Given the description of an element on the screen output the (x, y) to click on. 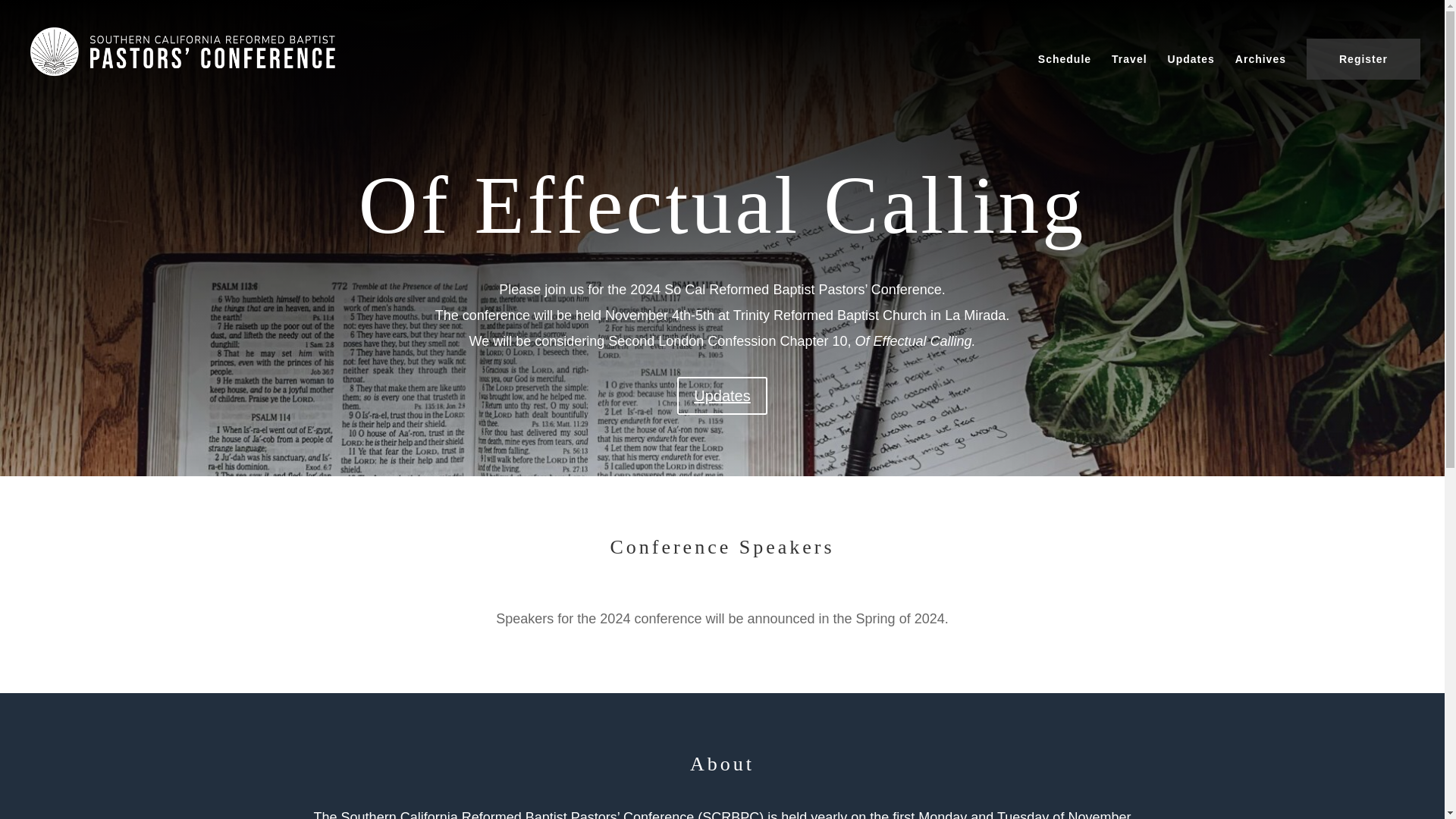
Schedule (1064, 78)
Travel (1129, 78)
Register (1363, 58)
Updates (722, 395)
Updates (1190, 78)
Archives (1259, 78)
